Given the description of an element on the screen output the (x, y) to click on. 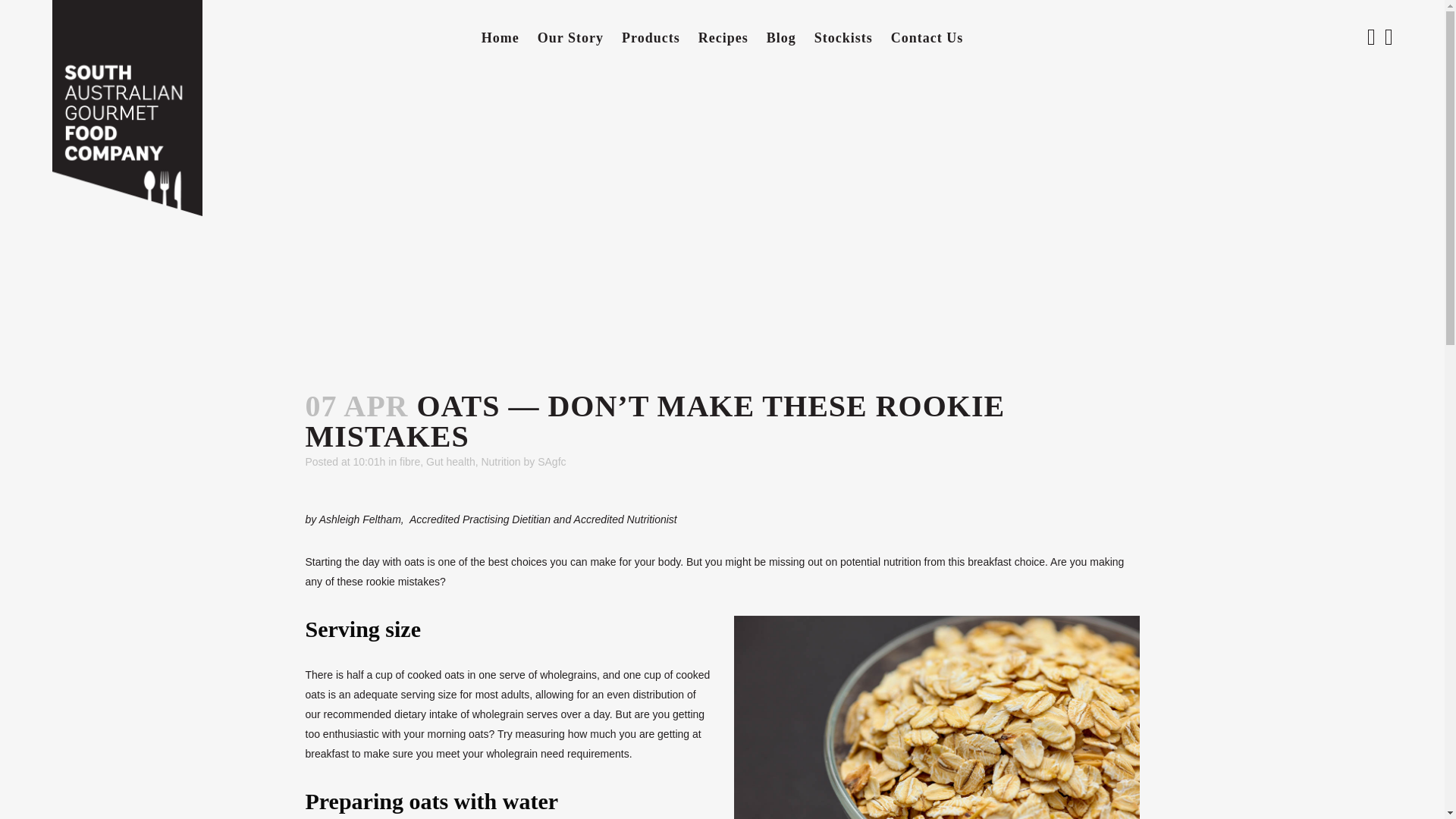
Contact Us (927, 38)
SAgfc (551, 461)
Gut health (451, 461)
Nutrition (499, 461)
fibre (409, 461)
Products (650, 38)
Our Story (570, 38)
Stockists (843, 38)
